Given the description of an element on the screen output the (x, y) to click on. 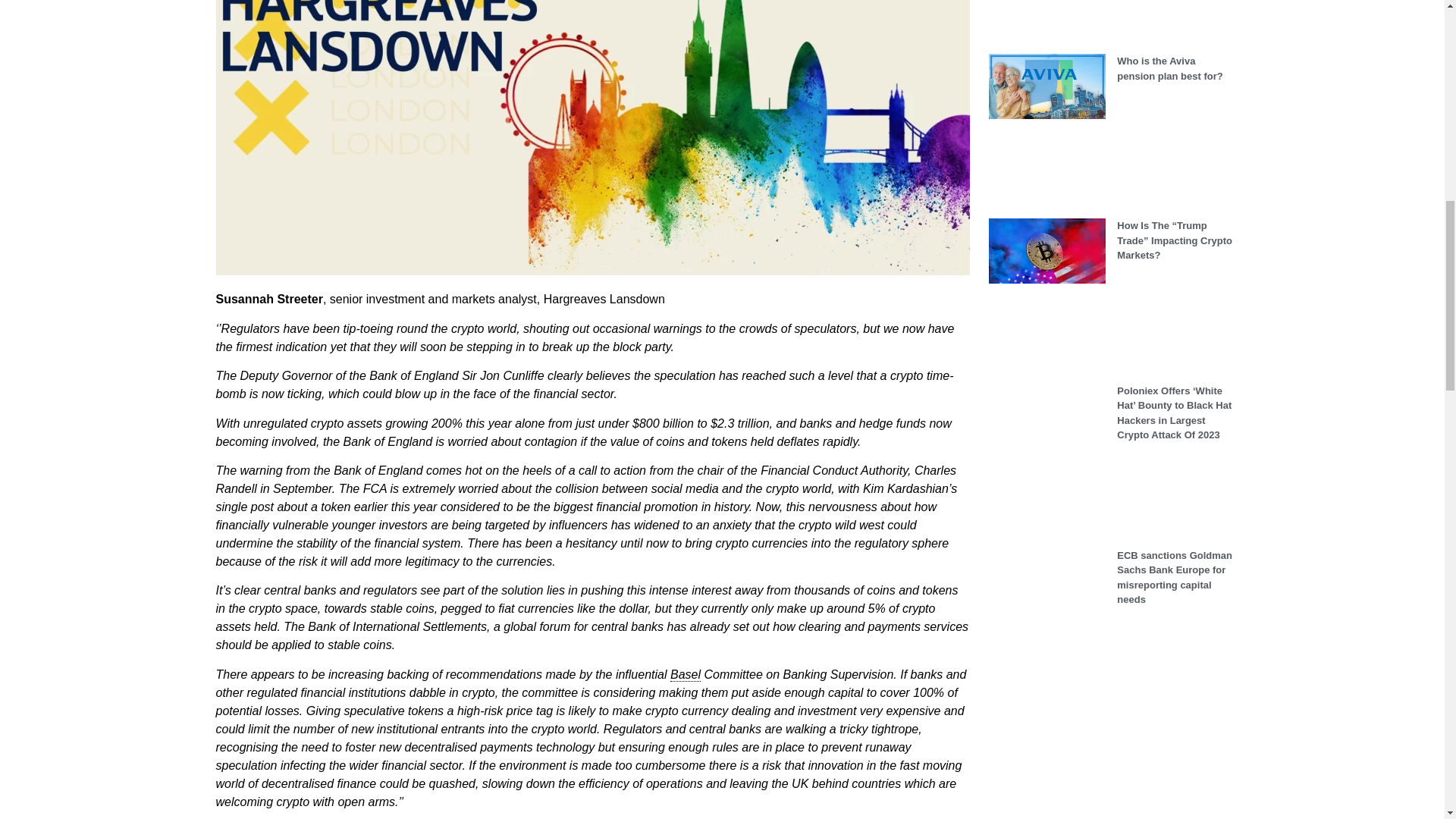
Basel (684, 674)
